Given the description of an element on the screen output the (x, y) to click on. 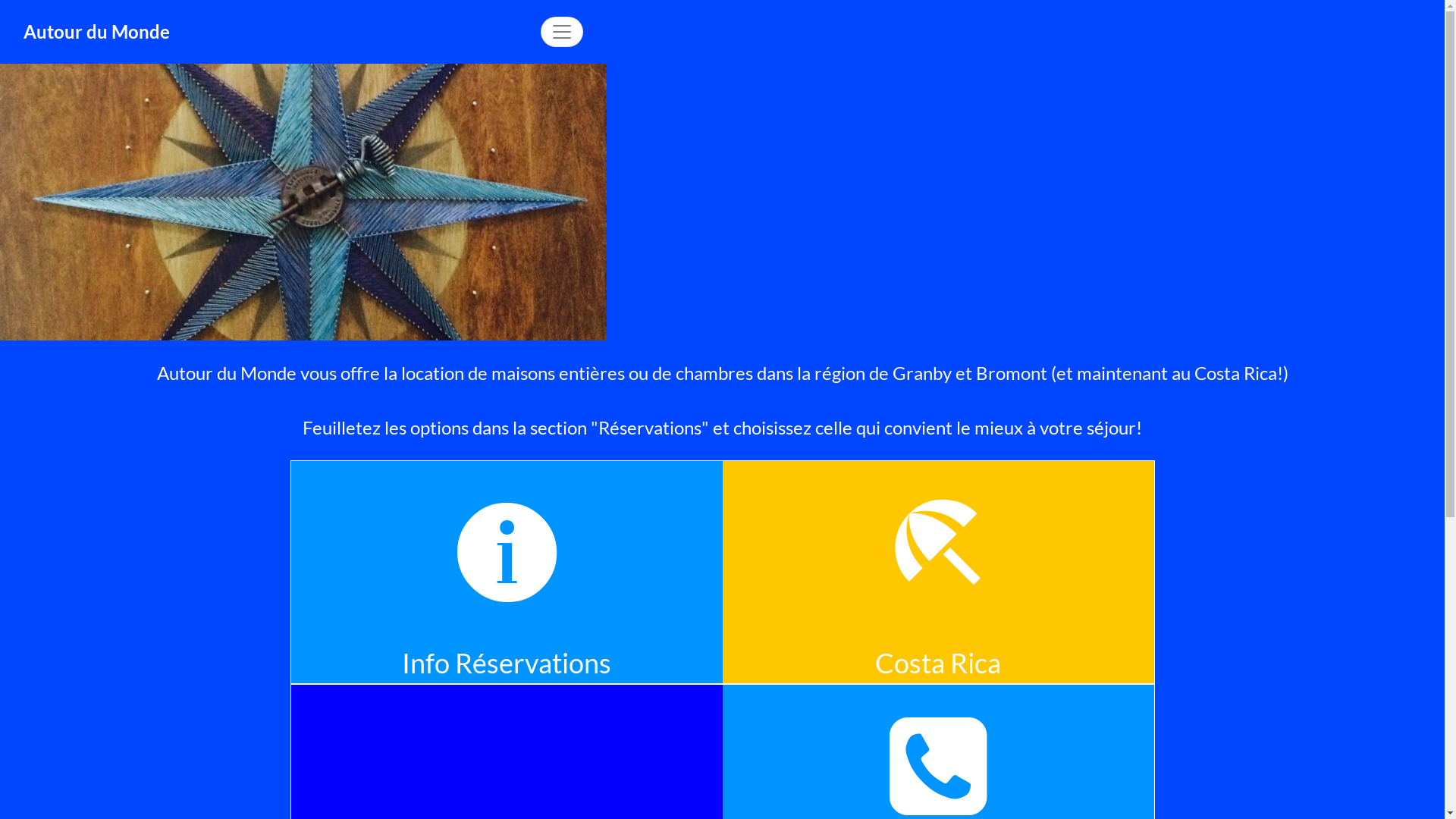
beach_access Element type: text (937, 551)
Toggle navigation Element type: text (561, 31)
Autour du Monde Element type: text (96, 31)
Costa Rica Element type: text (950, 721)
